Given the description of an element on the screen output the (x, y) to click on. 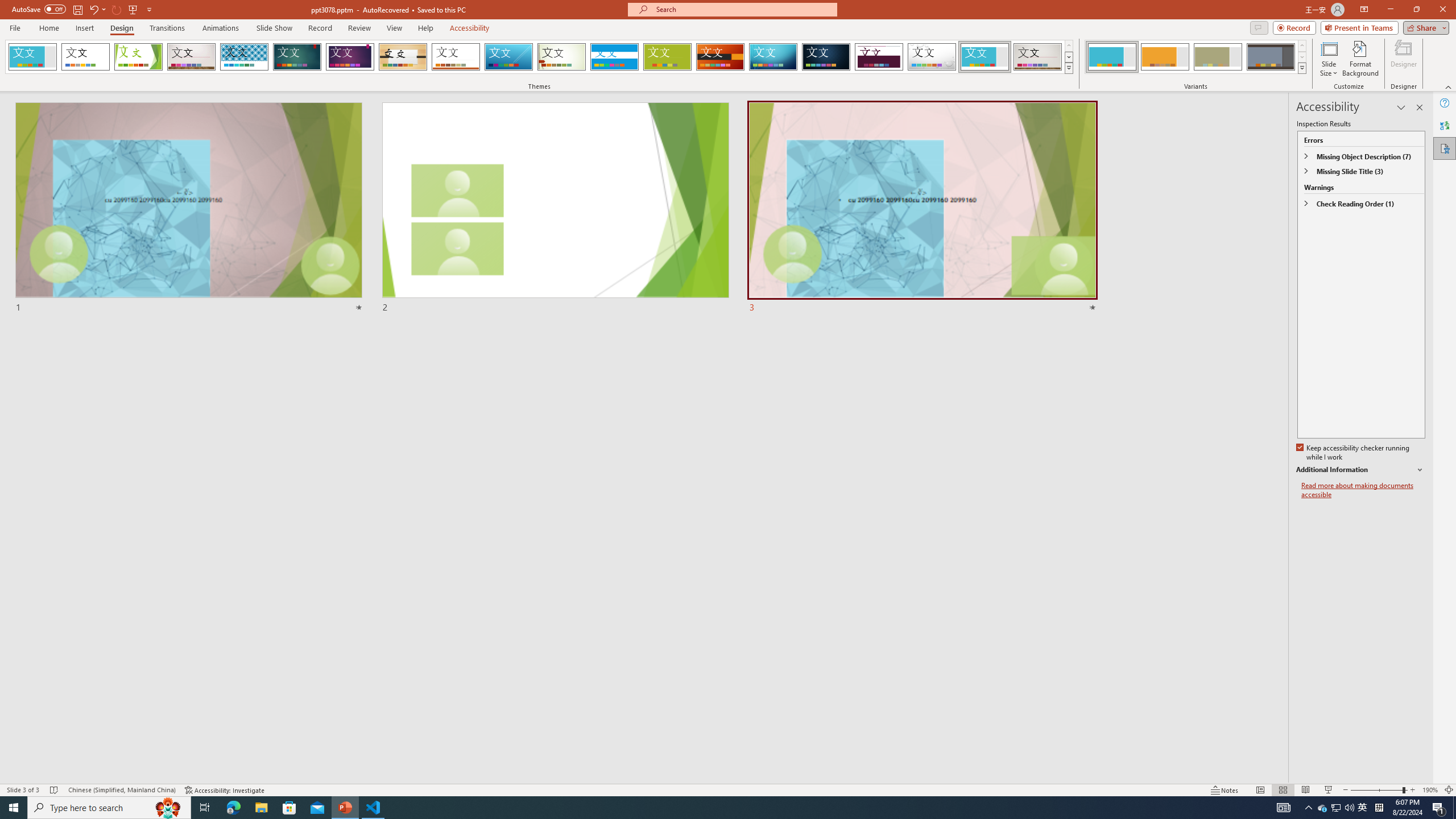
Gallery (1037, 56)
Basis (667, 56)
Frame (984, 56)
